Given the description of an element on the screen output the (x, y) to click on. 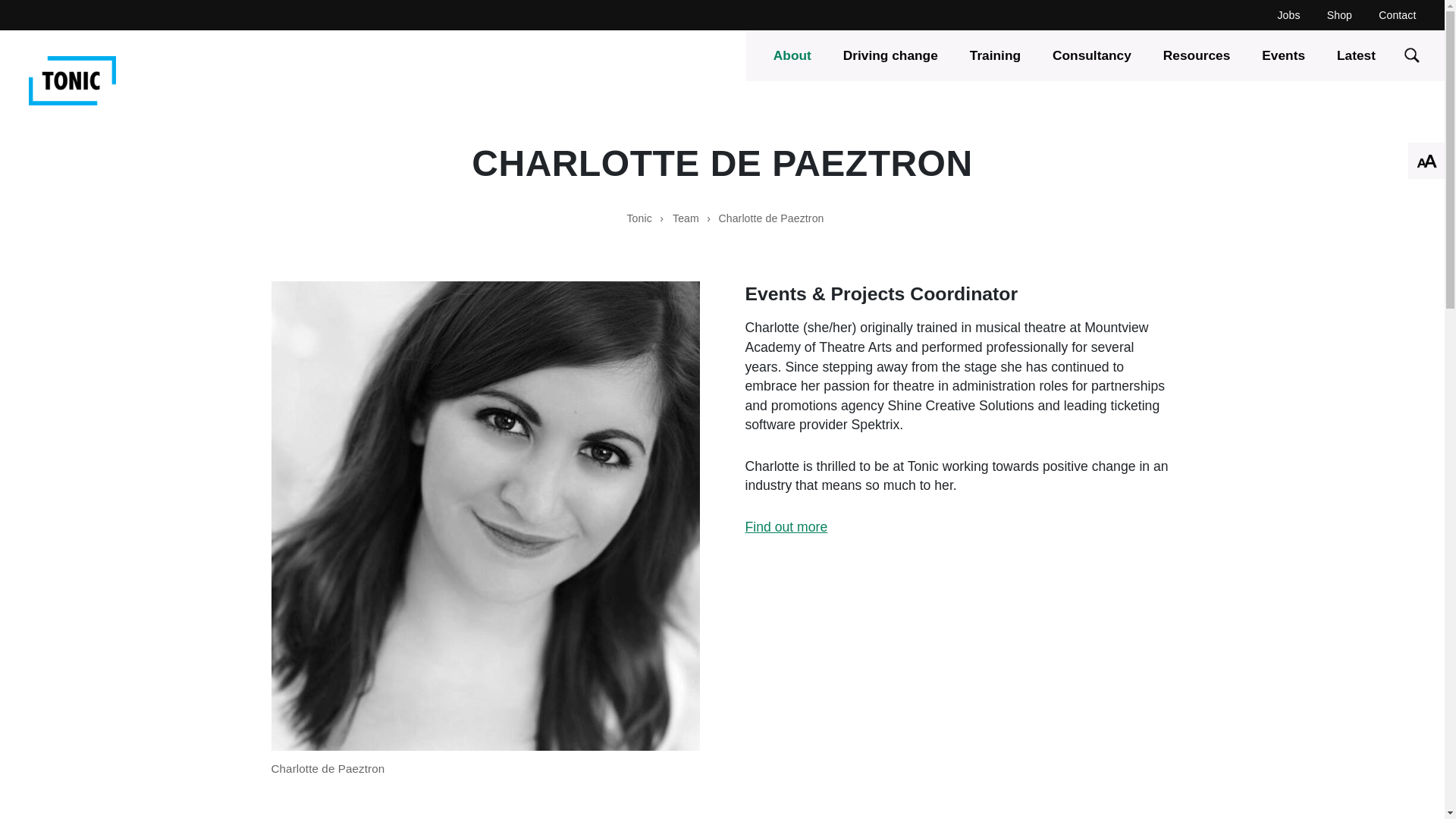
About (792, 55)
Toggle menu (78, 28)
Tonic (72, 80)
Accessibility Helper sidebar (1425, 160)
Jobs (1288, 15)
Shop (1339, 15)
Driving change (890, 55)
Contact (1397, 15)
